Given the description of an element on the screen output the (x, y) to click on. 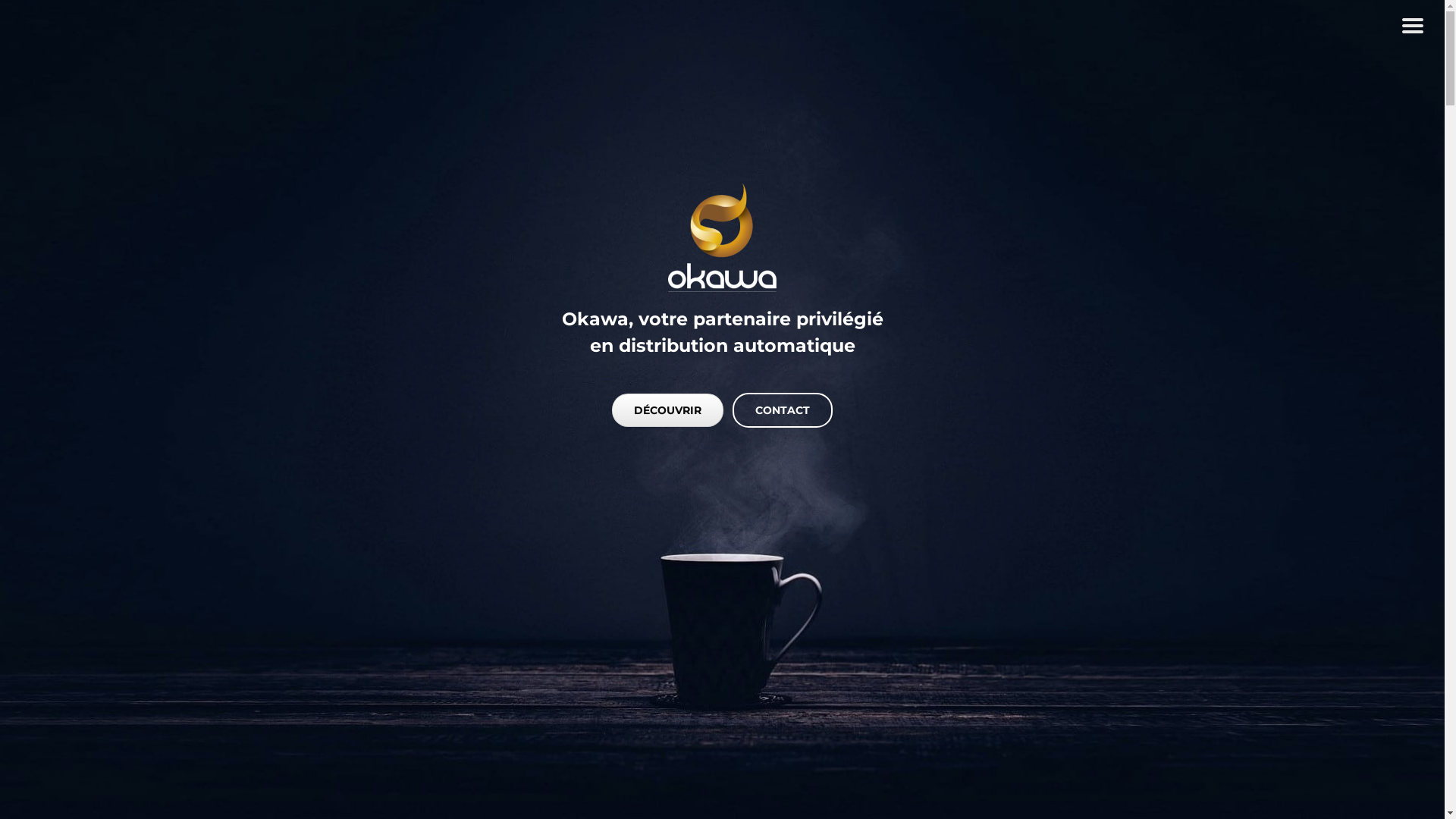
CONTACT Element type: text (782, 409)
